Given the description of an element on the screen output the (x, y) to click on. 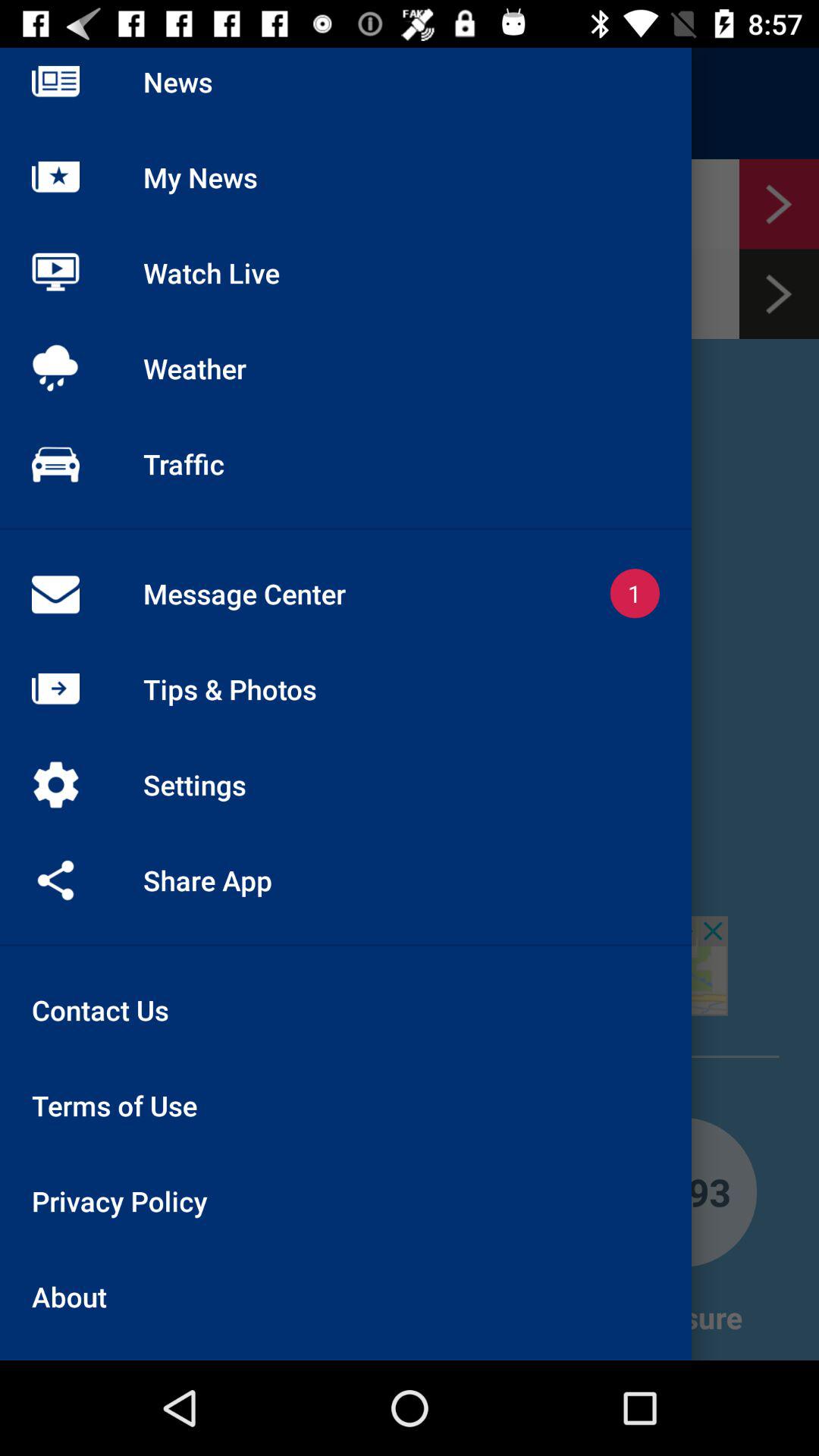
click on the second forward button at the top of the page (779, 293)
